Given the description of an element on the screen output the (x, y) to click on. 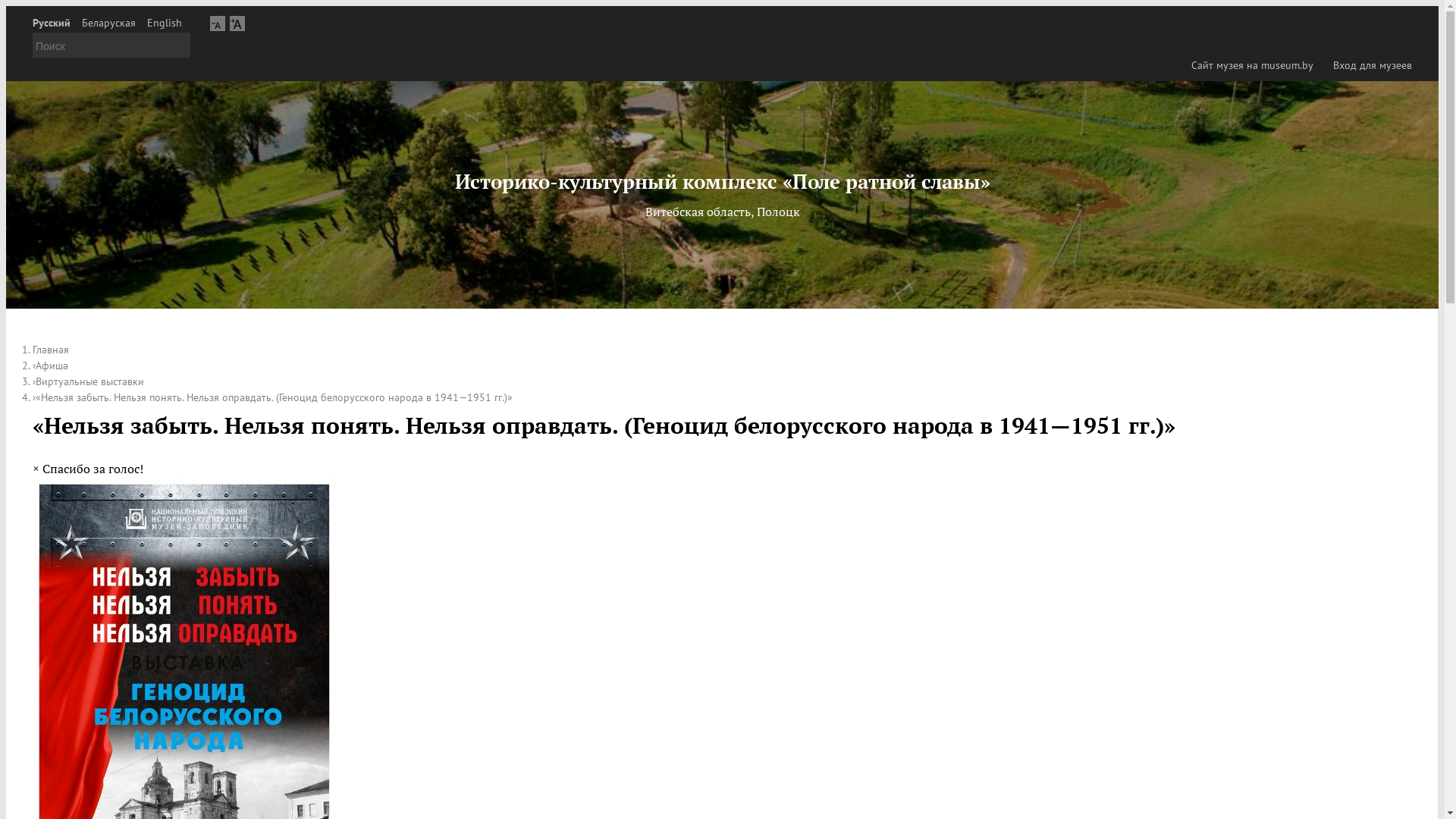
A Element type: text (236, 22)
A Element type: text (217, 22)
English Element type: text (164, 23)
